Given the description of an element on the screen output the (x, y) to click on. 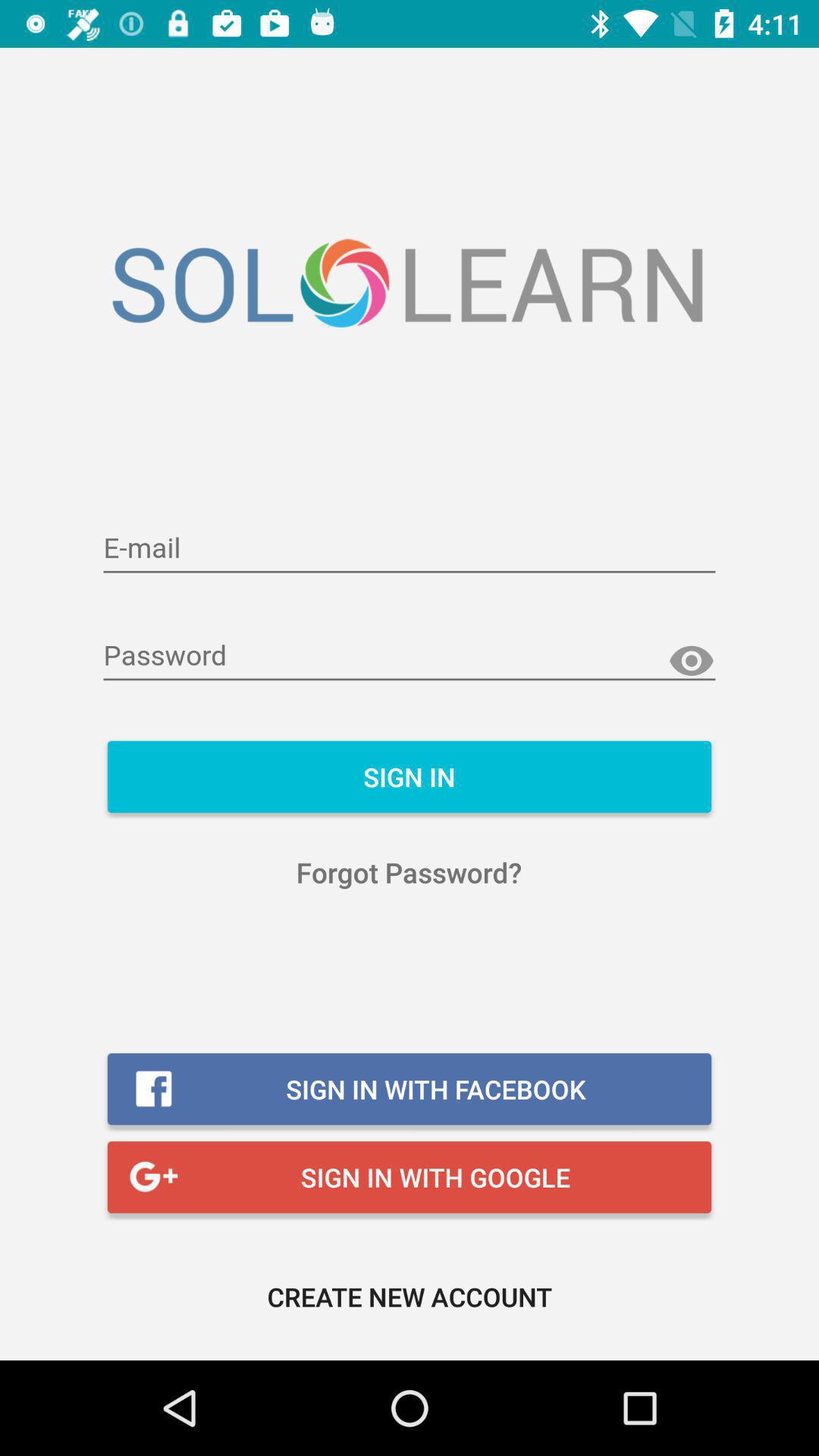
click the create new account item (409, 1296)
